Given the description of an element on the screen output the (x, y) to click on. 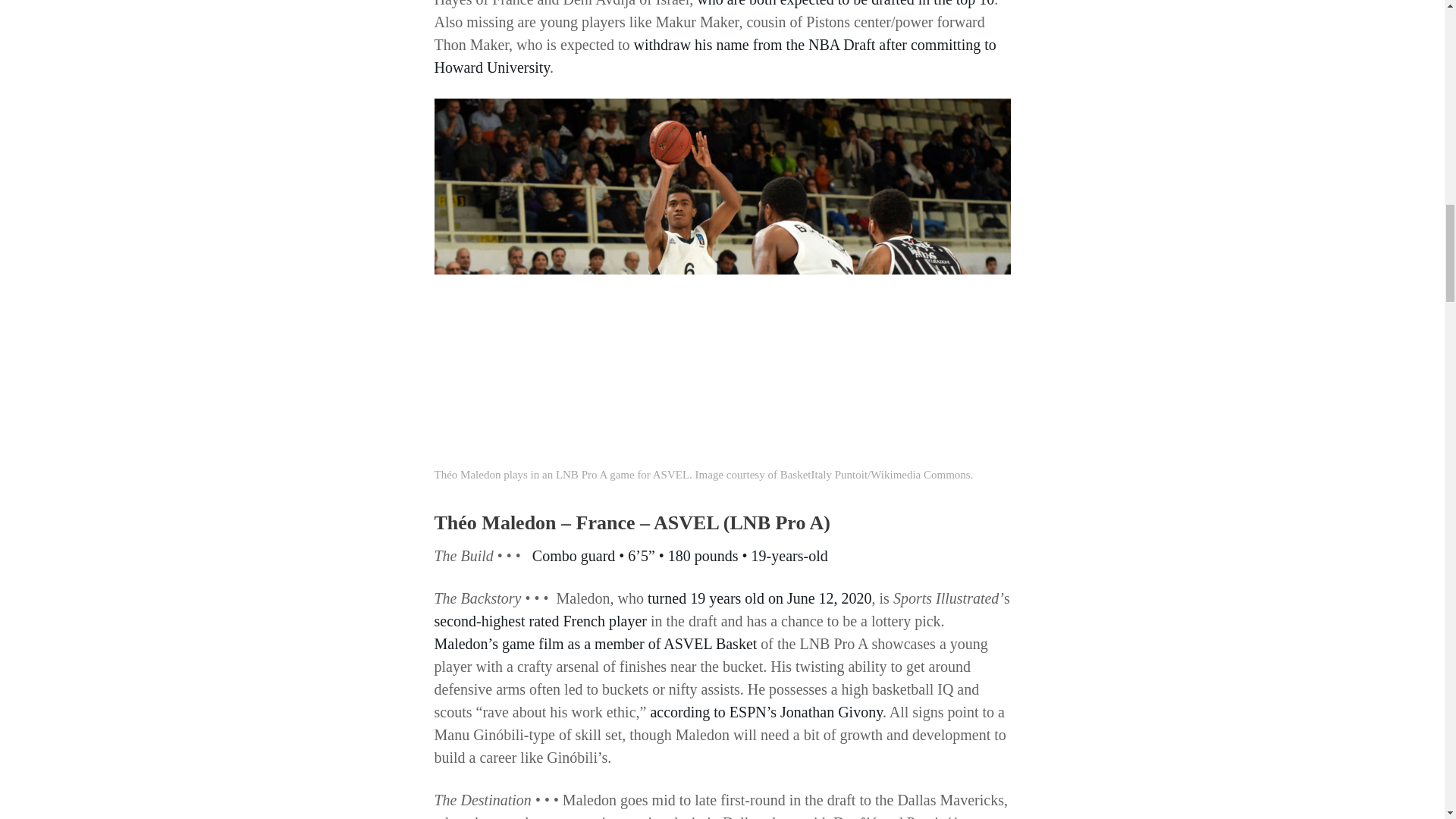
second-highest rated French player (539, 620)
who are both expected to be drafted in the top 10 (845, 3)
turned 19 years old on June 12, 2020 (759, 597)
